Given the description of an element on the screen output the (x, y) to click on. 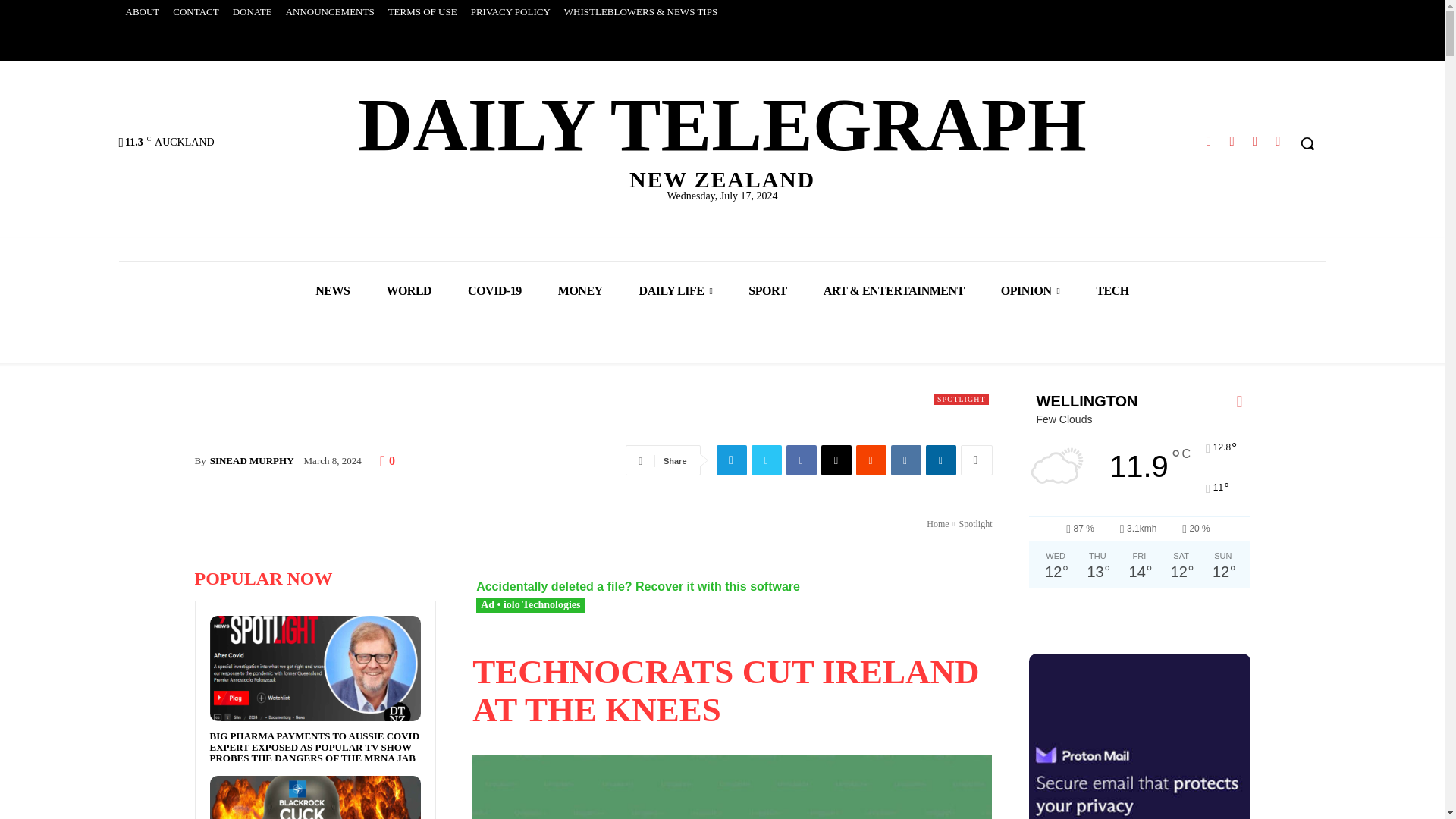
Twitter (765, 460)
Telegram (1208, 140)
TikTok (721, 136)
Linkedin (330, 12)
PRIVACY POLICY (939, 460)
COVID-19 (510, 12)
ABOUT (494, 291)
Email (141, 12)
CONTACT (835, 460)
VK (195, 12)
Tiktok (904, 460)
Telegram (1254, 140)
